Given the description of an element on the screen output the (x, y) to click on. 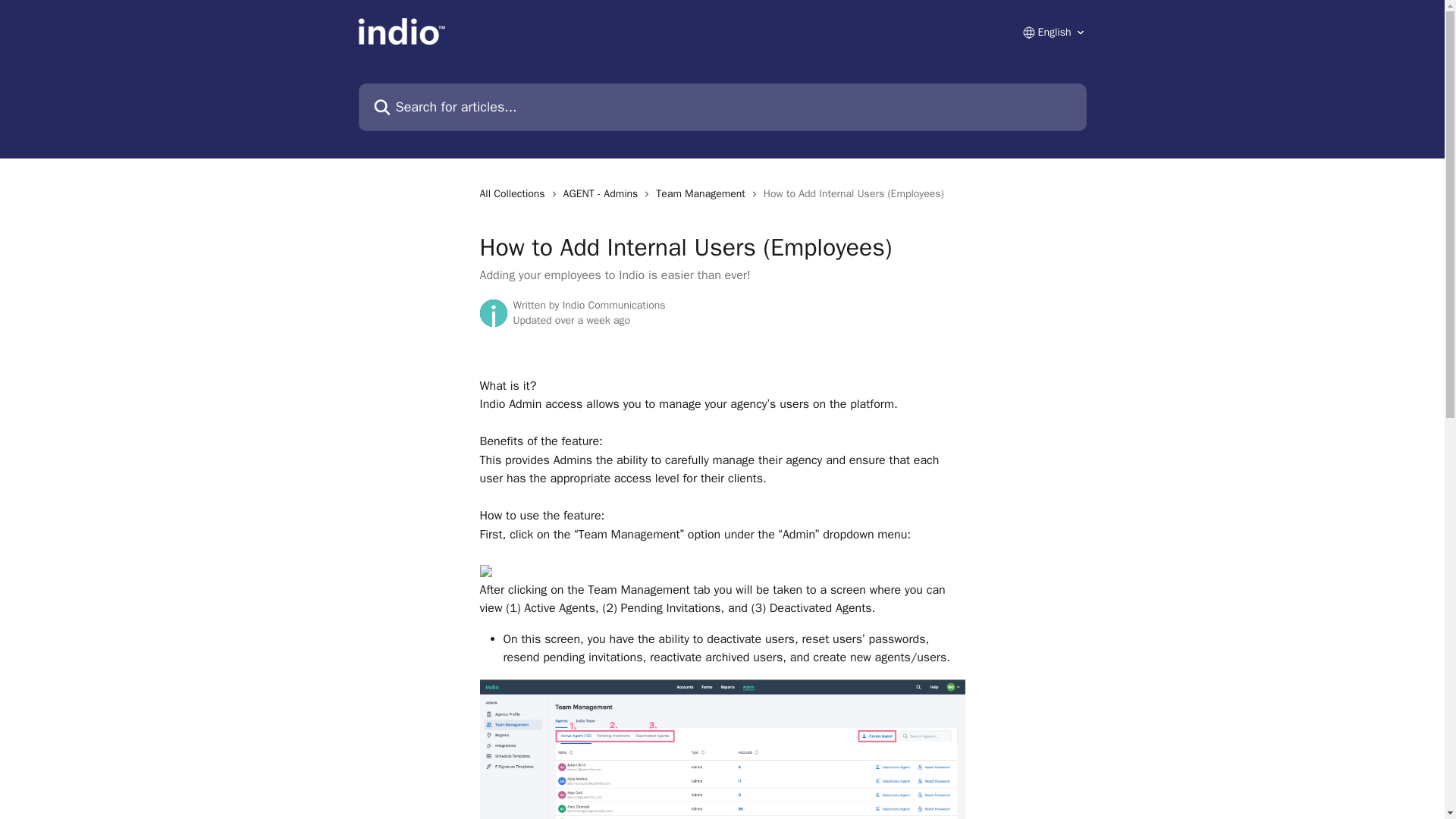
All Collections (514, 193)
Team Management (703, 193)
AGENT - Admins (604, 193)
